Given the description of an element on the screen output the (x, y) to click on. 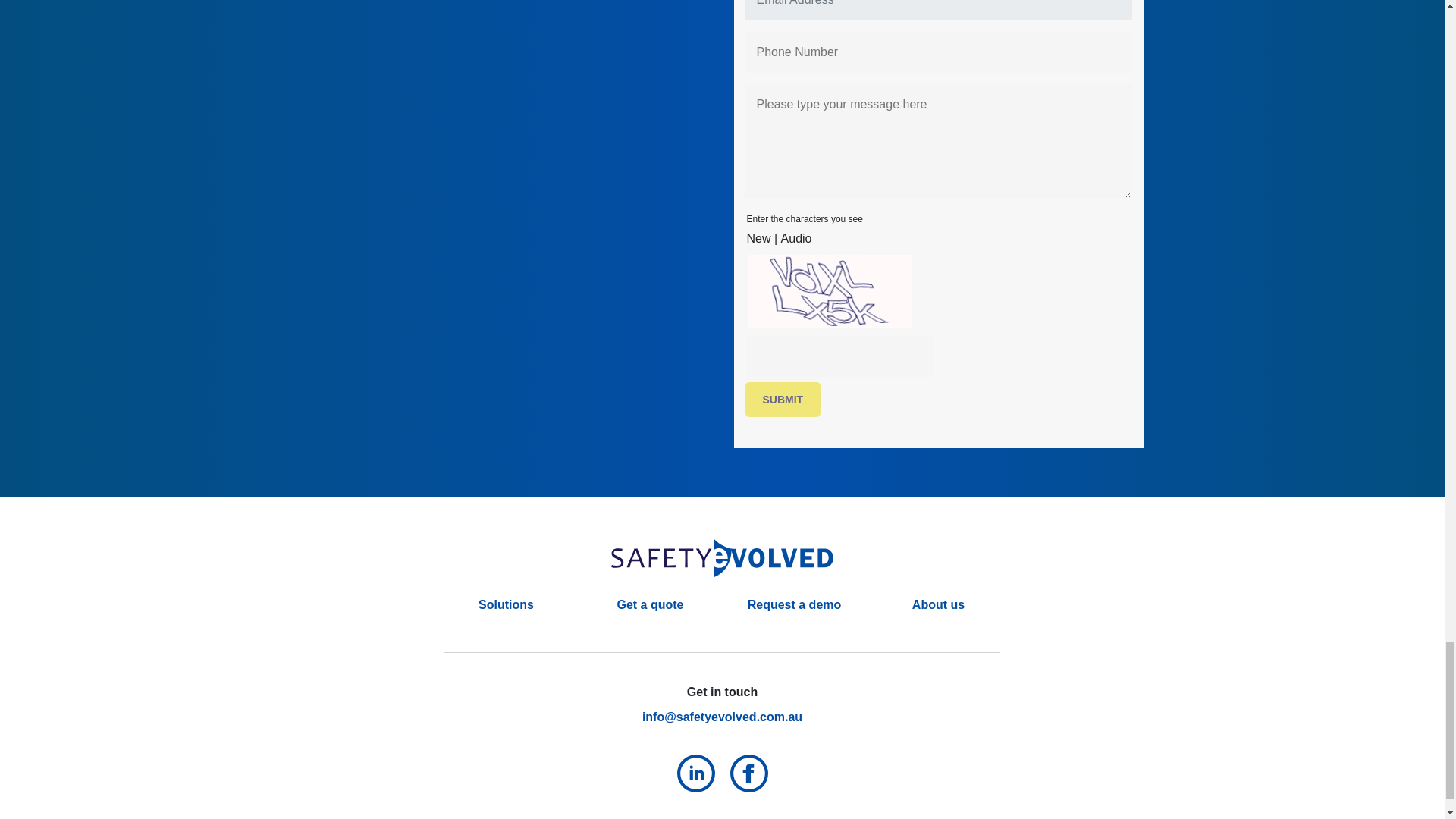
Request a demo (794, 604)
Get a quote (648, 604)
Switch to the audio challenge (796, 237)
Solutions (506, 604)
Get a new challenge (757, 237)
SUBMIT (782, 399)
New (757, 237)
Please type your message here (937, 141)
About us (937, 604)
Audio (796, 237)
